Given the description of an element on the screen output the (x, y) to click on. 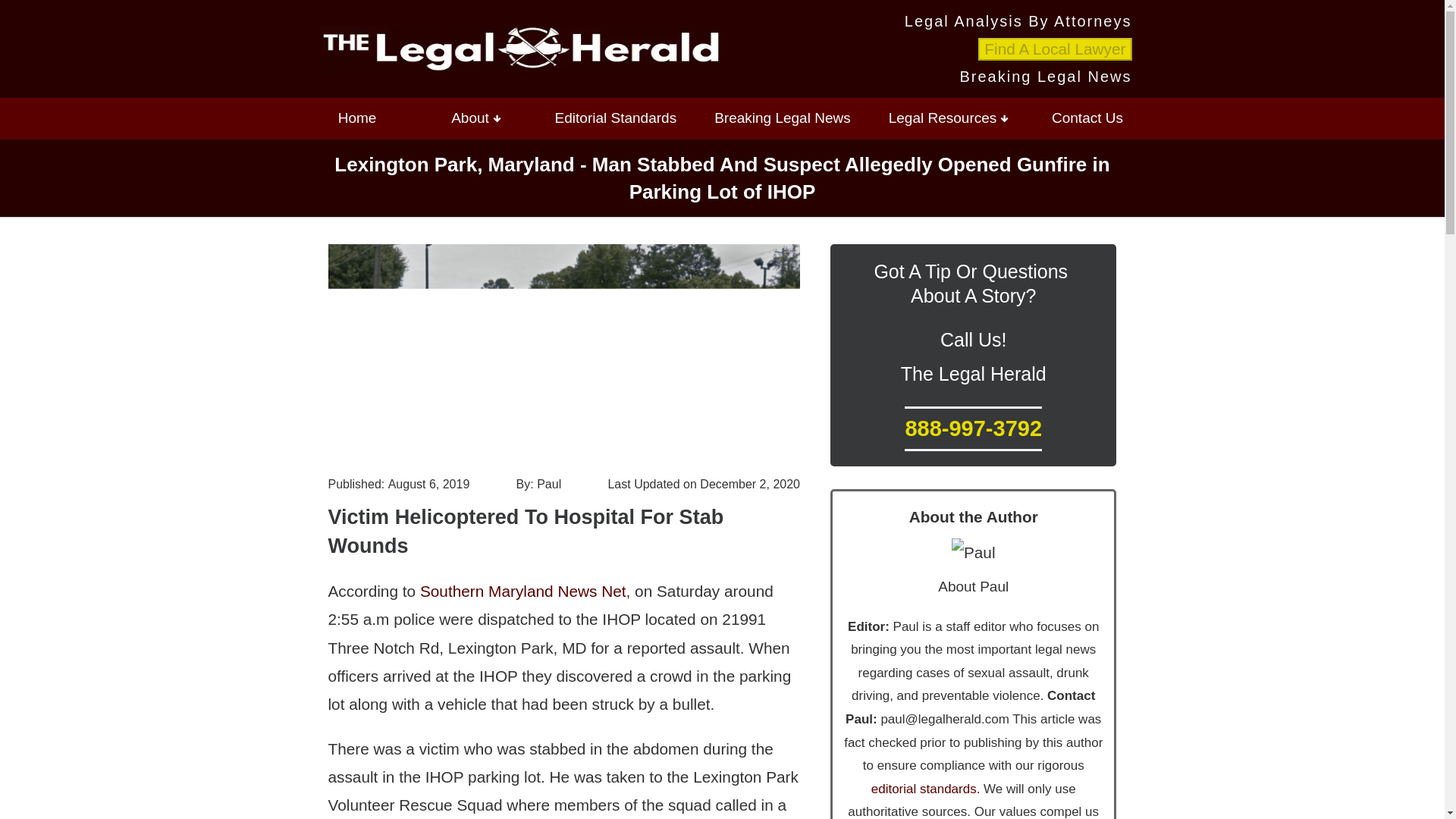
Southern Maryland News Net (523, 590)
888-997-3792 (973, 428)
Find A Local Lawyer (1054, 48)
Breaking Legal News (782, 117)
Legal Resources (948, 117)
Editorial Standards (615, 117)
editorial standards. (924, 789)
Home (356, 117)
About (476, 117)
Contact Us (1086, 117)
